Given the description of an element on the screen output the (x, y) to click on. 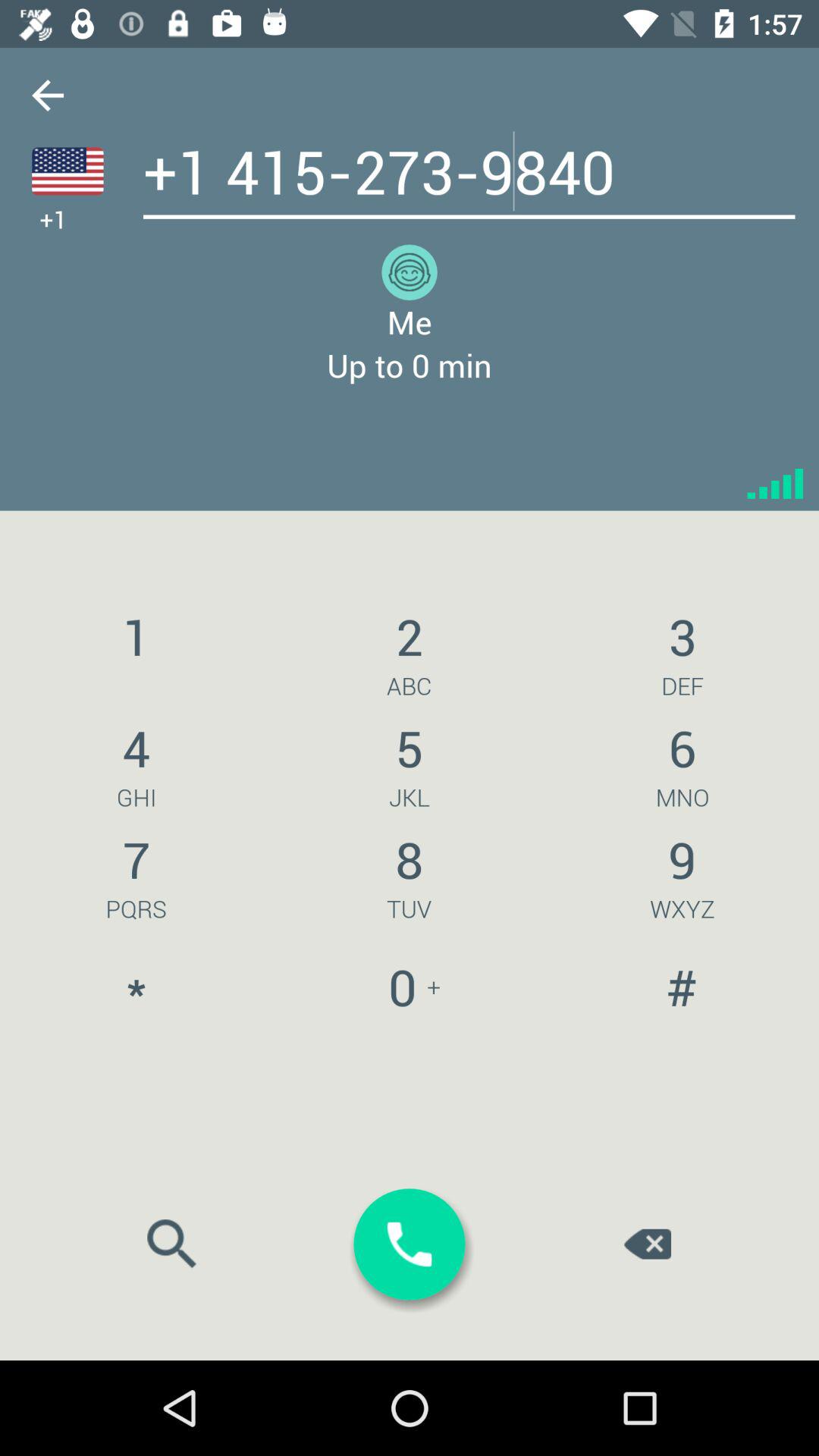
select country options (67, 171)
